Given the description of an element on the screen output the (x, y) to click on. 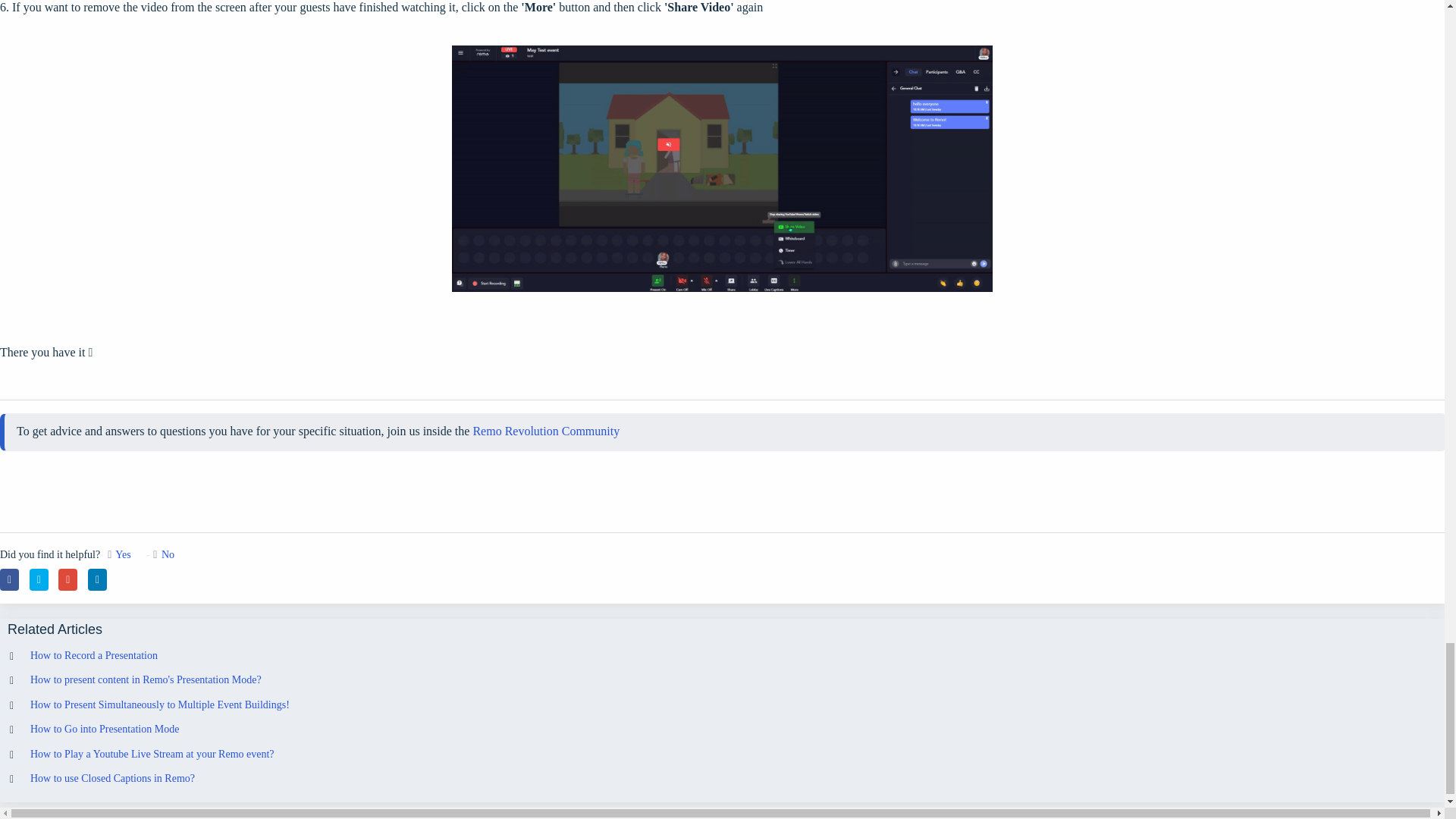
Remo Revolution Community (545, 431)
How to present content in Remo's Presentation Mode? (146, 679)
How to use Closed Captions in Remo? (112, 778)
How to Present Simultaneously to Multiple Event Buildings! (159, 704)
How to Play a Youtube Live Stream at your Remo event? (152, 754)
How to Go into Presentation Mode (104, 728)
How to Record a Presentation (93, 655)
